Given the description of an element on the screen output the (x, y) to click on. 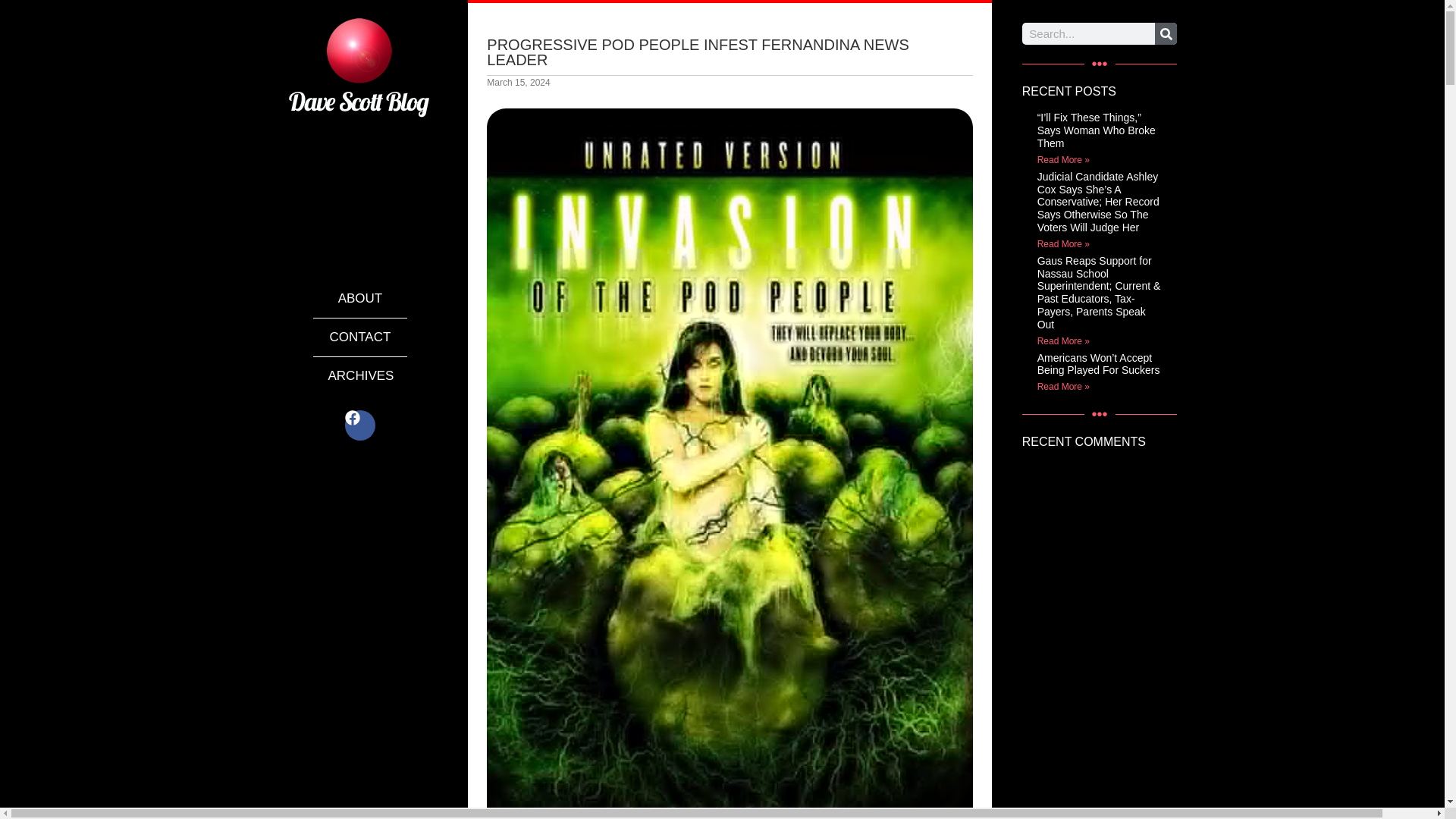
CONTACT (360, 337)
ARCHIVES (360, 375)
March 15, 2024 (518, 82)
ABOUT (360, 299)
